Given the description of an element on the screen output the (x, y) to click on. 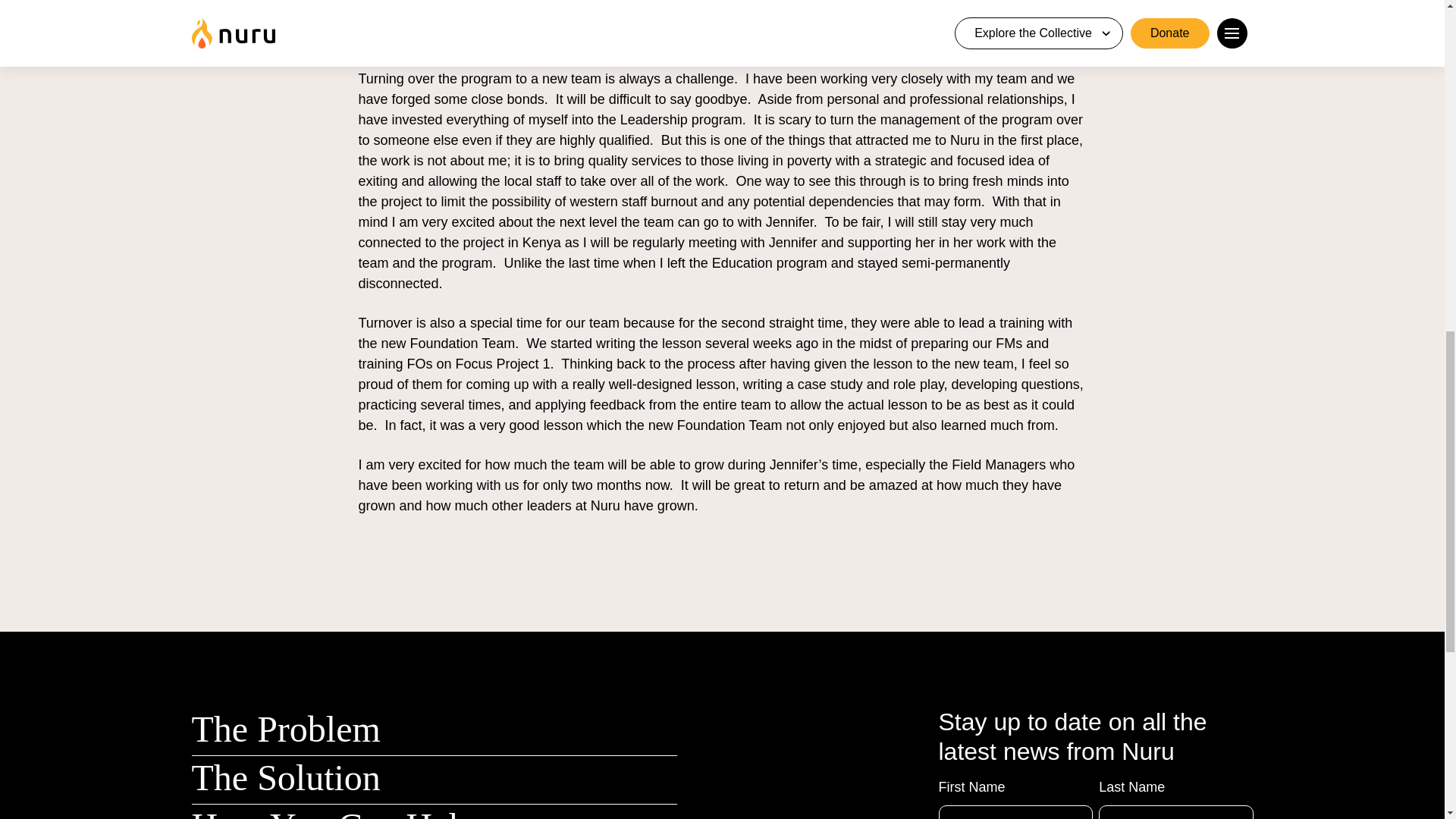
The Problem (285, 729)
How You Can Help (333, 812)
The Solution (285, 777)
